Given the description of an element on the screen output the (x, y) to click on. 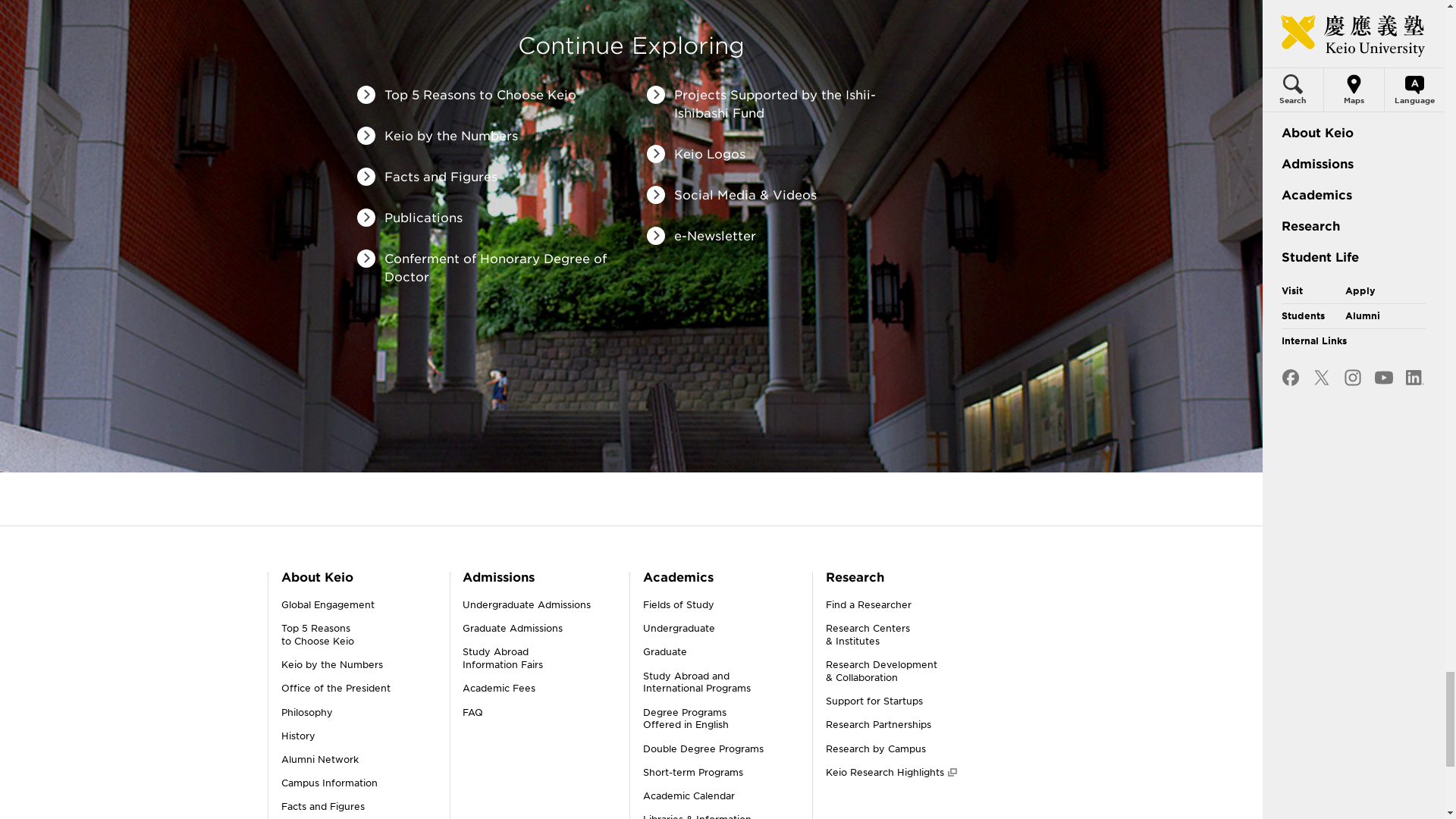
Philosophy (306, 712)
FAQ (473, 712)
Academic Fees (499, 687)
Office of the President (503, 658)
Undergraduate Admissions (335, 687)
Facts and Figures (527, 604)
History (322, 806)
Global Engagement (297, 736)
Campus Information (327, 604)
Admissions (329, 782)
Alumni Network (498, 577)
Keio by the Numbers (319, 758)
Graduate Admissions (331, 664)
